Given the description of an element on the screen output the (x, y) to click on. 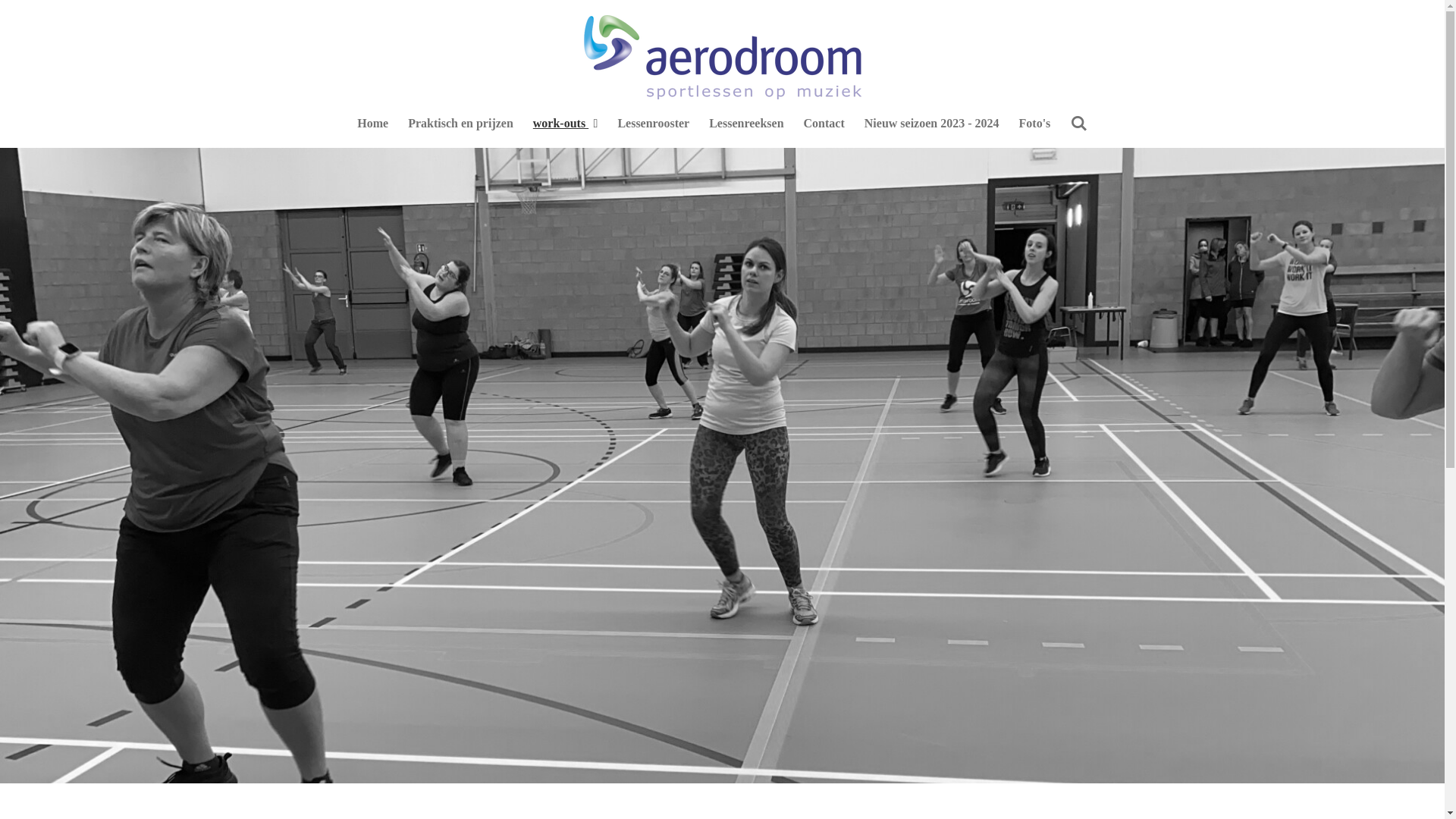
Contact Element type: text (823, 123)
Home Element type: text (372, 123)
Nieuw seizoen 2023 - 2024 Element type: text (931, 123)
Foto's Element type: text (1034, 123)
Lessenrooster Element type: text (653, 123)
Praktisch en prijzen Element type: text (460, 123)
Aerodroom Element type: hover (722, 57)
Lessenreeksen Element type: text (746, 123)
Zoeken Element type: hover (1078, 123)
work-outs Element type: text (565, 123)
